Given the description of an element on the screen output the (x, y) to click on. 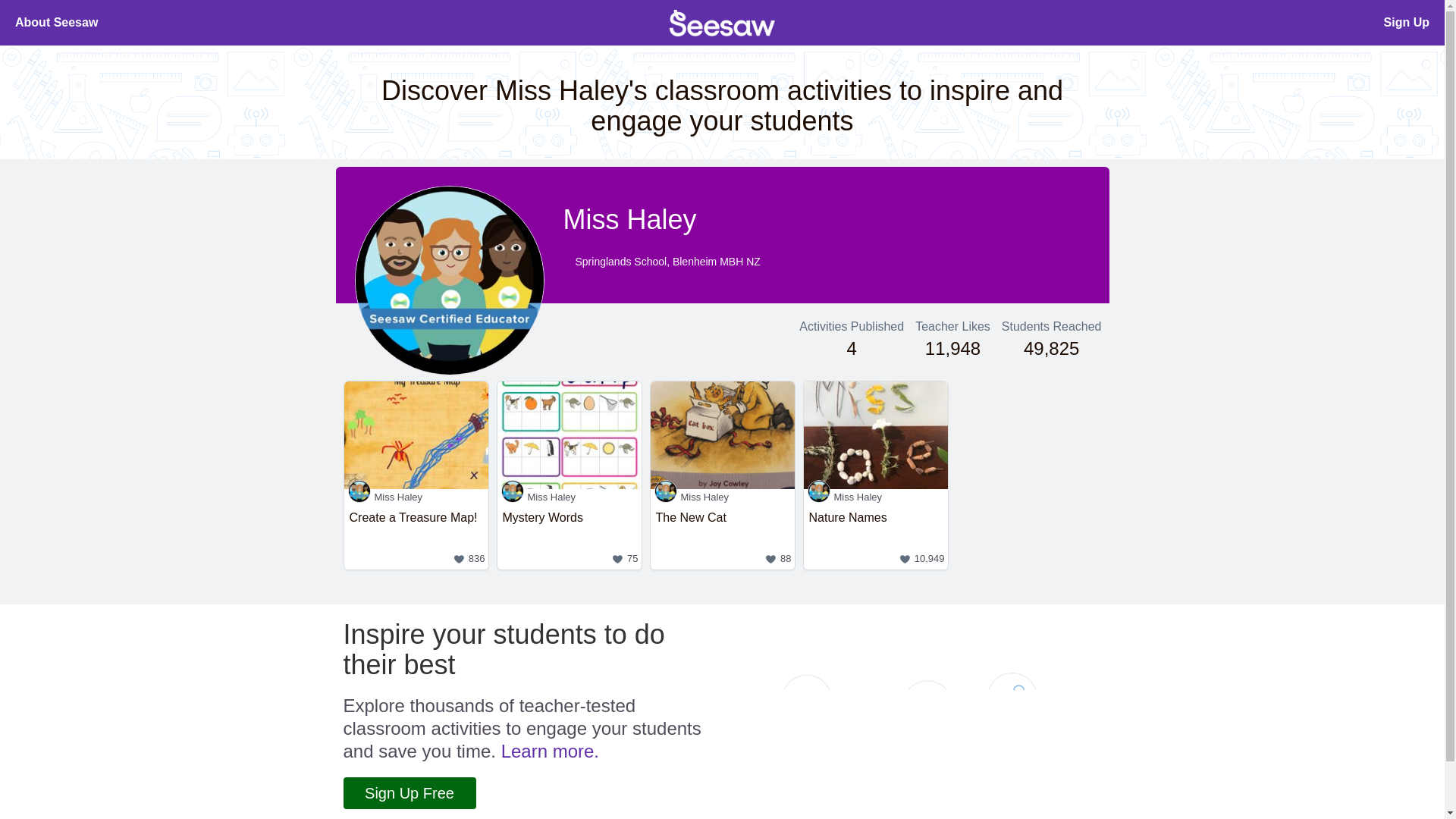
Sign Up (1406, 22)
About Seesaw (55, 22)
Learn more. (549, 751)
Miss Haley (415, 496)
Miss Haley (722, 496)
Sign Up Free (409, 793)
Miss Haley (875, 537)
Miss Haley (569, 496)
